Given the description of an element on the screen output the (x, y) to click on. 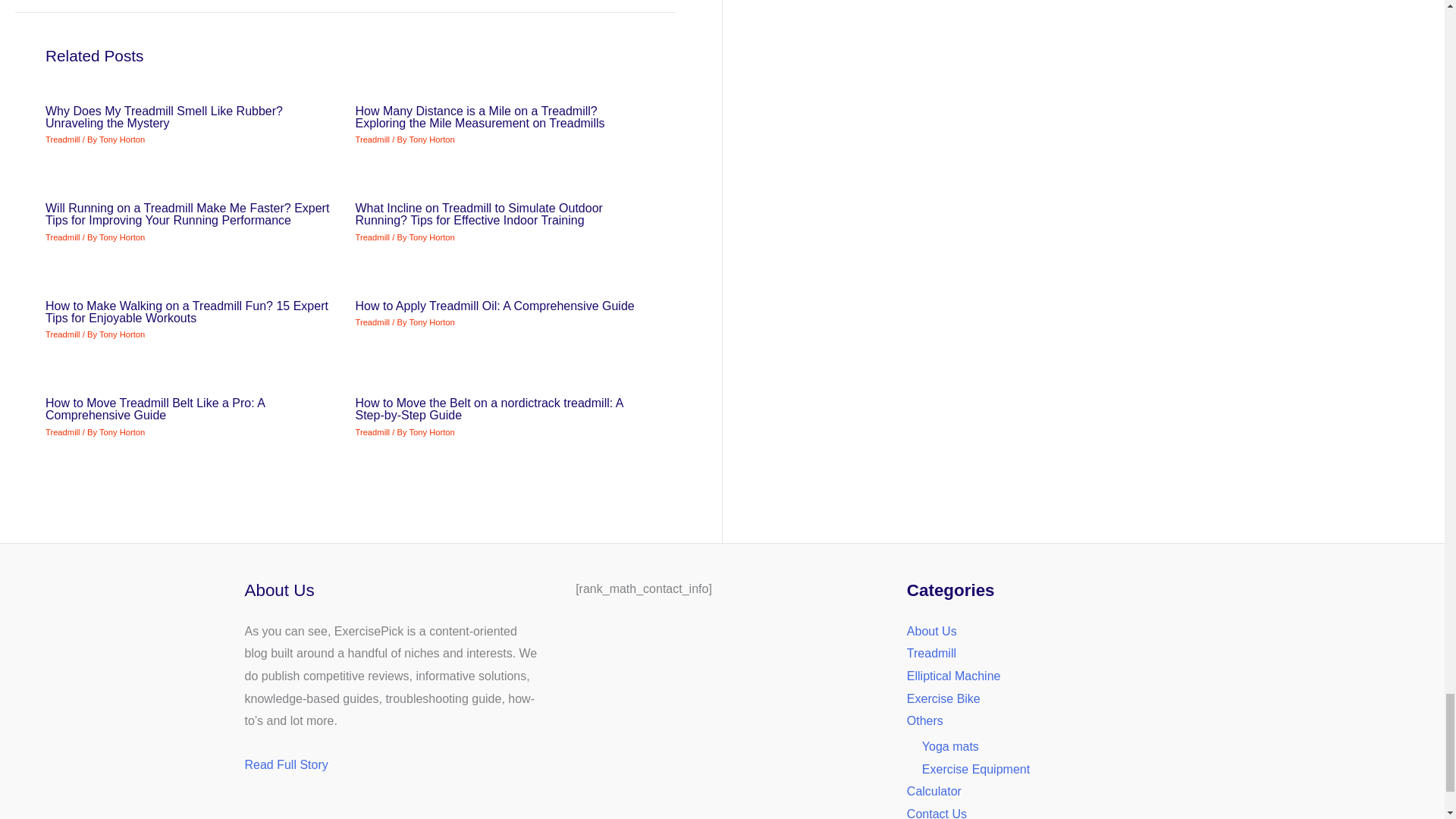
View all posts by Tony Horton (431, 236)
View all posts by Tony Horton (431, 139)
View all posts by Tony Horton (121, 139)
View all posts by Tony Horton (121, 236)
View all posts by Tony Horton (121, 334)
View all posts by Tony Horton (121, 431)
View all posts by Tony Horton (431, 321)
View all posts by Tony Horton (431, 431)
